Given the description of an element on the screen output the (x, y) to click on. 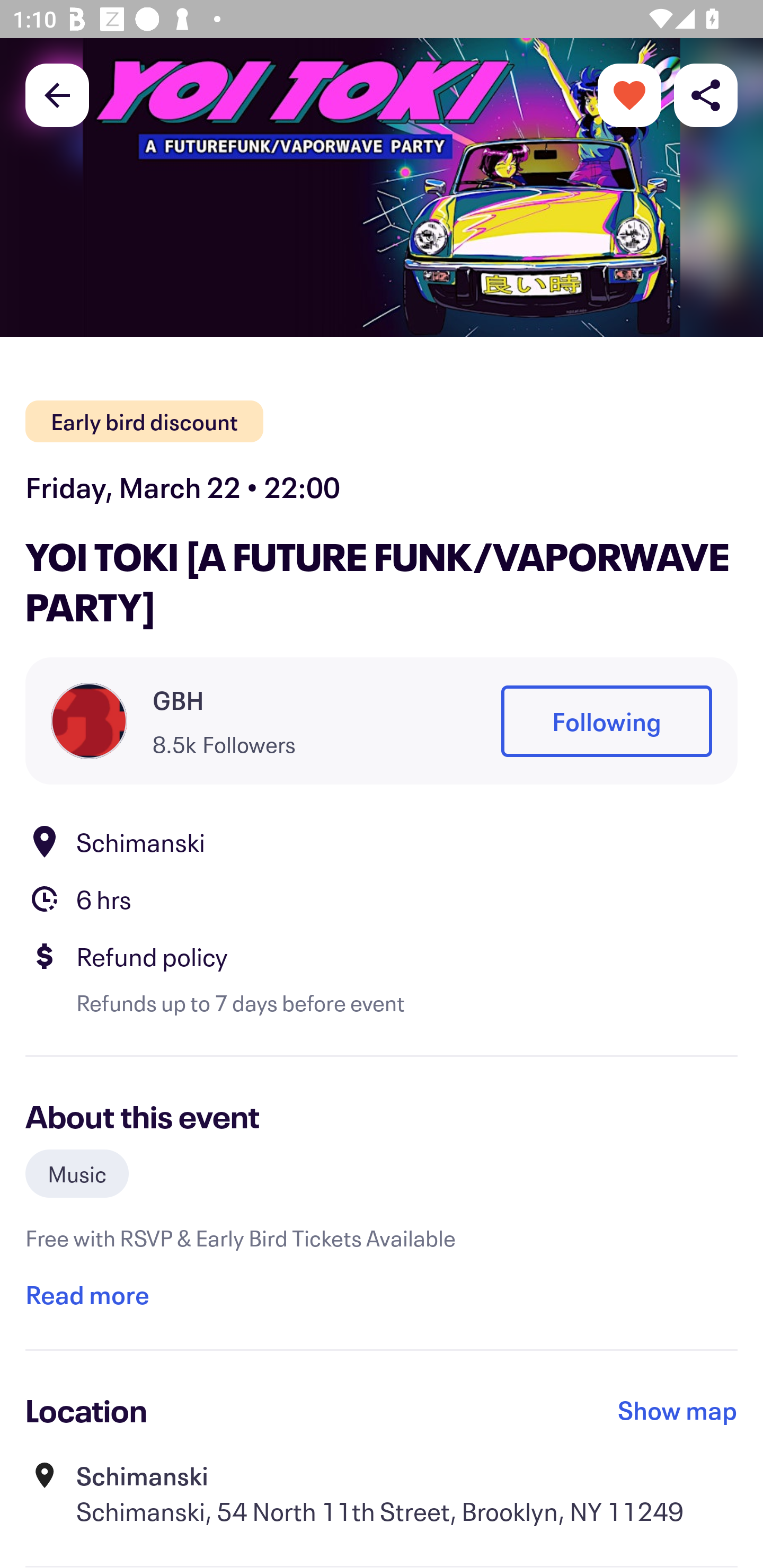
Back (57, 94)
More (629, 94)
Share (705, 94)
Early bird discount (144, 421)
GBH (178, 699)
Organizer profile picture (89, 720)
Following (606, 720)
Location Schimanski (381, 840)
Read more (87, 1293)
Show map (677, 1410)
